Given the description of an element on the screen output the (x, y) to click on. 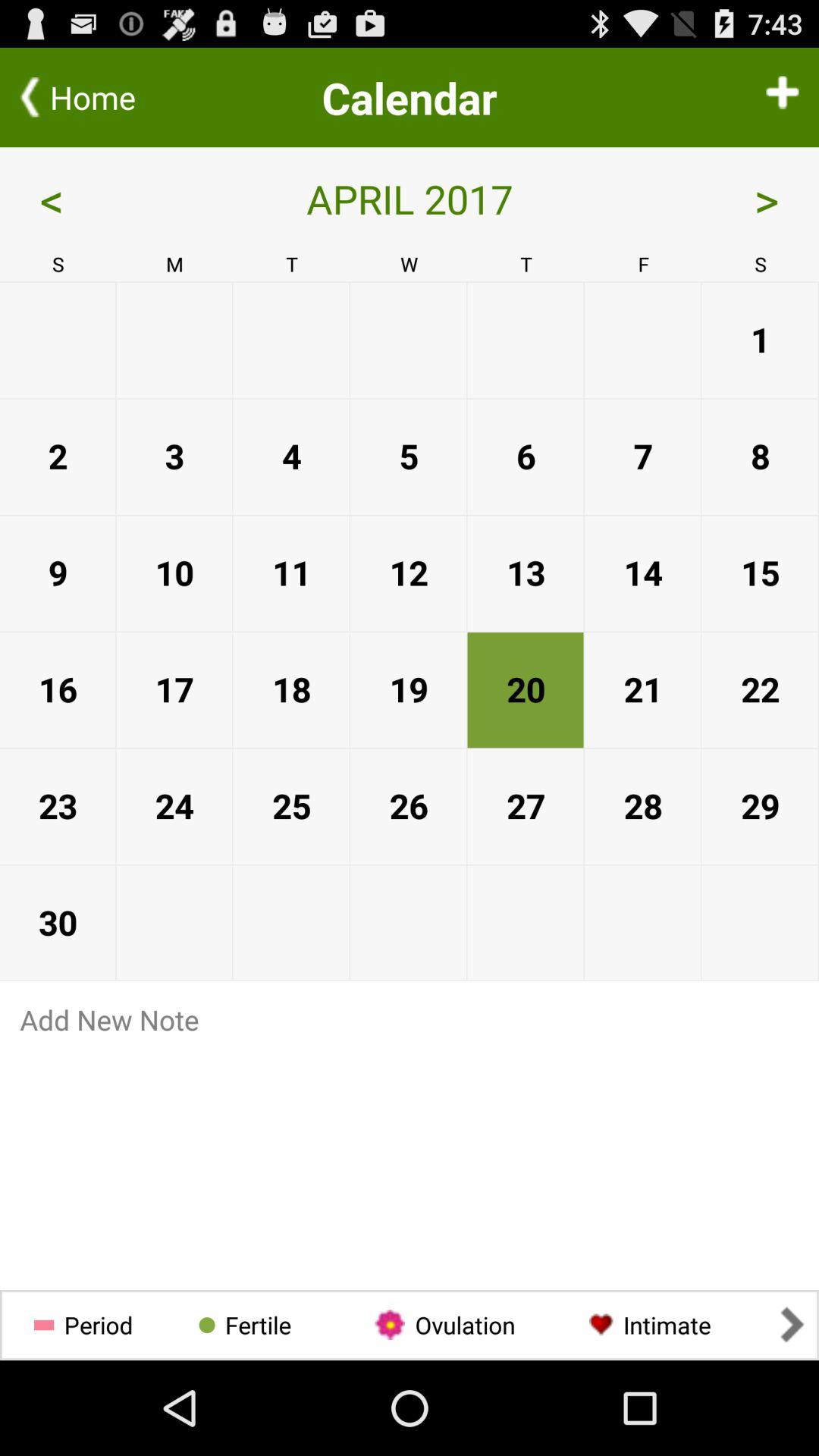
add a new note to an event (409, 1019)
